Given the description of an element on the screen output the (x, y) to click on. 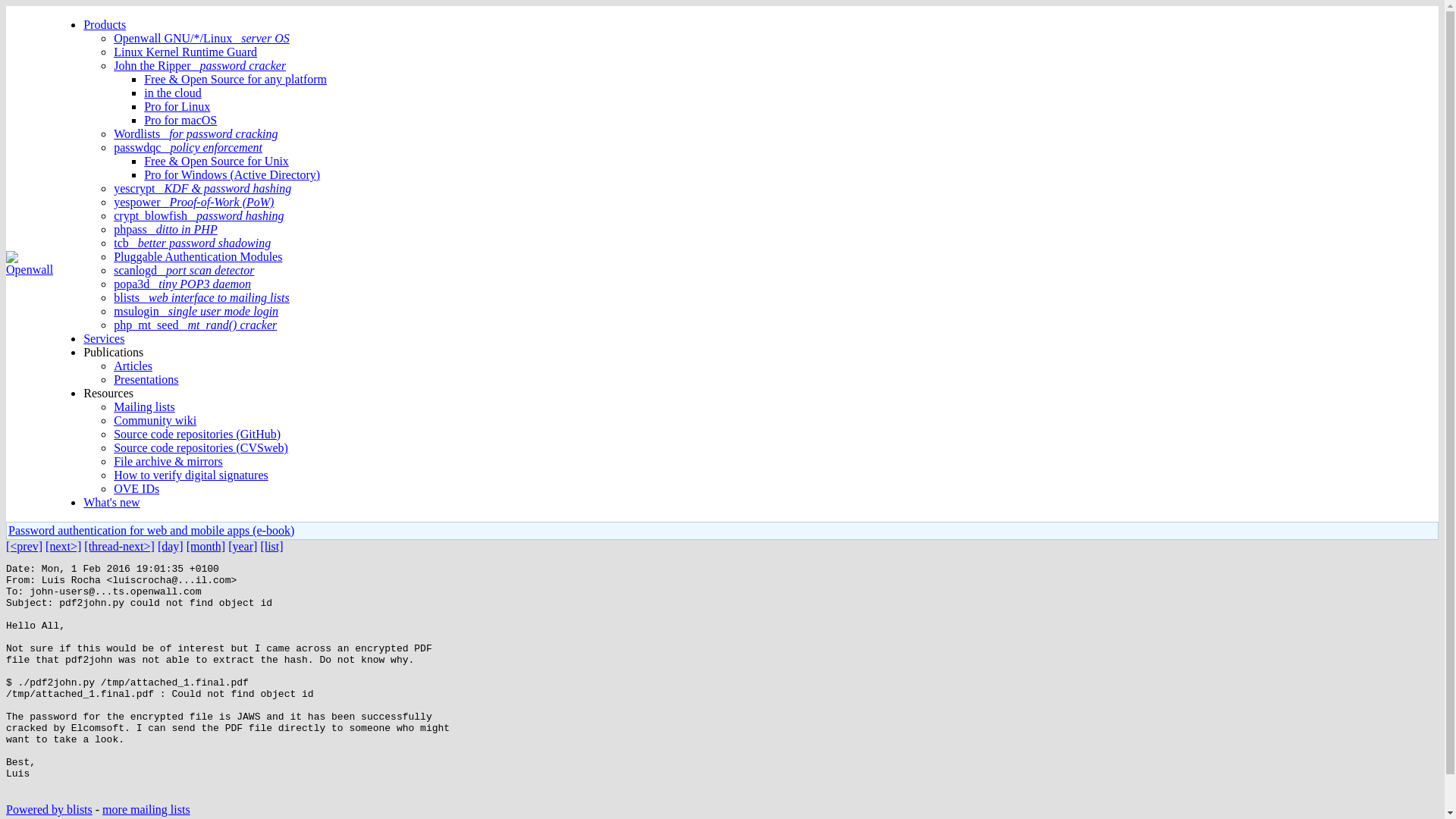
in the cloud (173, 92)
Publications (112, 351)
Presentations (145, 379)
Articles (132, 365)
Pro for macOS (180, 119)
Wordlists   for password cracking (195, 133)
tcb   better password shadowing (191, 242)
blists   web interface to mailing lists (201, 297)
OVE IDs (135, 488)
popa3d   tiny POP3 daemon (181, 283)
What's new (110, 502)
Linux Kernel Runtime Guard (185, 51)
Pro for Linux (176, 106)
Mailing lists (143, 406)
Products (103, 24)
